Given the description of an element on the screen output the (x, y) to click on. 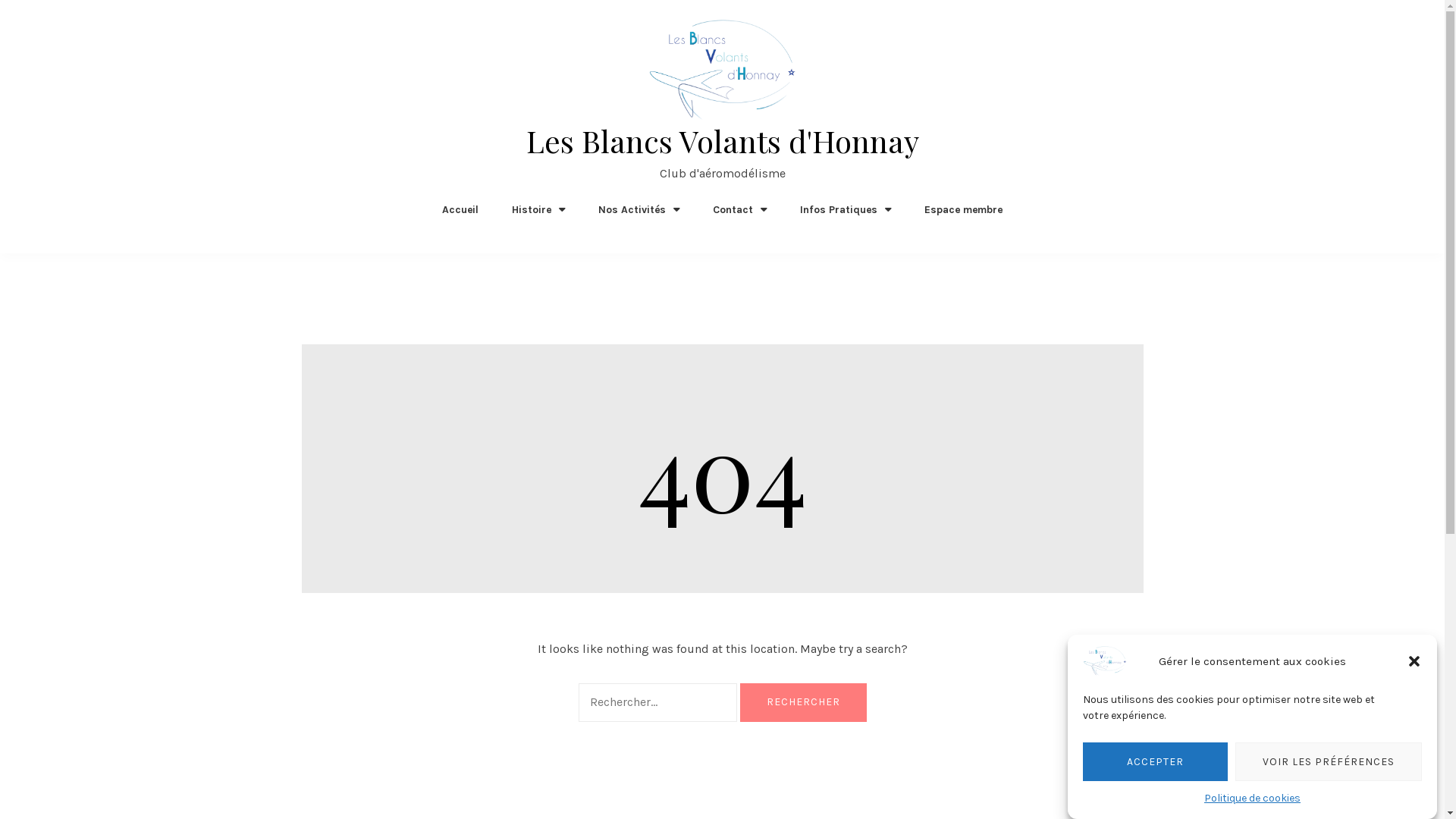
Contact Element type: text (739, 209)
Histoire Element type: text (537, 209)
Espace membre Element type: text (963, 209)
Politique de cookies Element type: text (1252, 797)
Rechercher Element type: text (803, 702)
Accueil Element type: text (460, 209)
ACCEPTER Element type: text (1154, 761)
Les Blancs Volants d'Honnay Element type: text (722, 140)
Infos Pratiques Element type: text (845, 209)
